Given the description of an element on the screen output the (x, y) to click on. 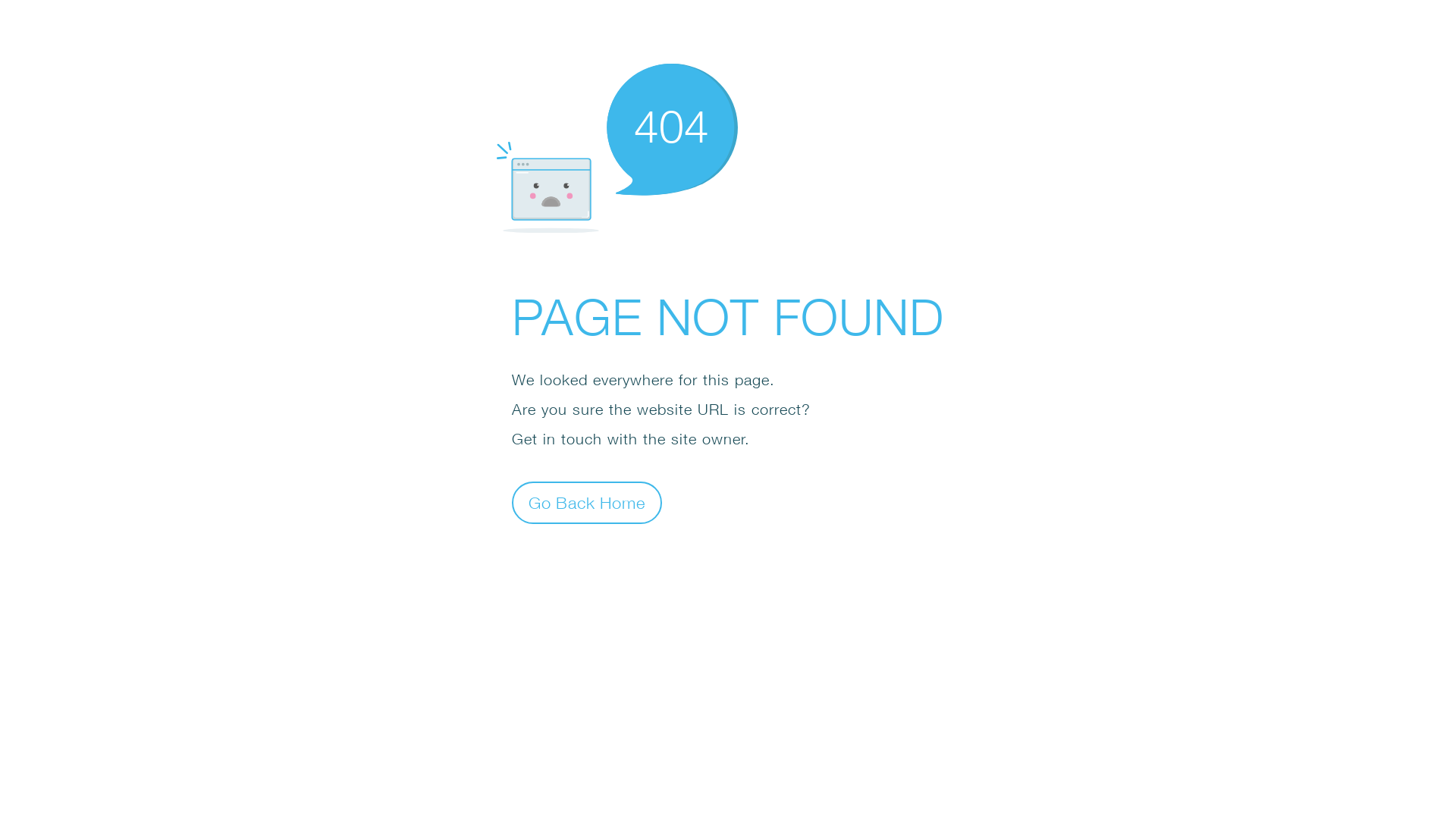
Go Back Home Element type: text (586, 502)
